Given the description of an element on the screen output the (x, y) to click on. 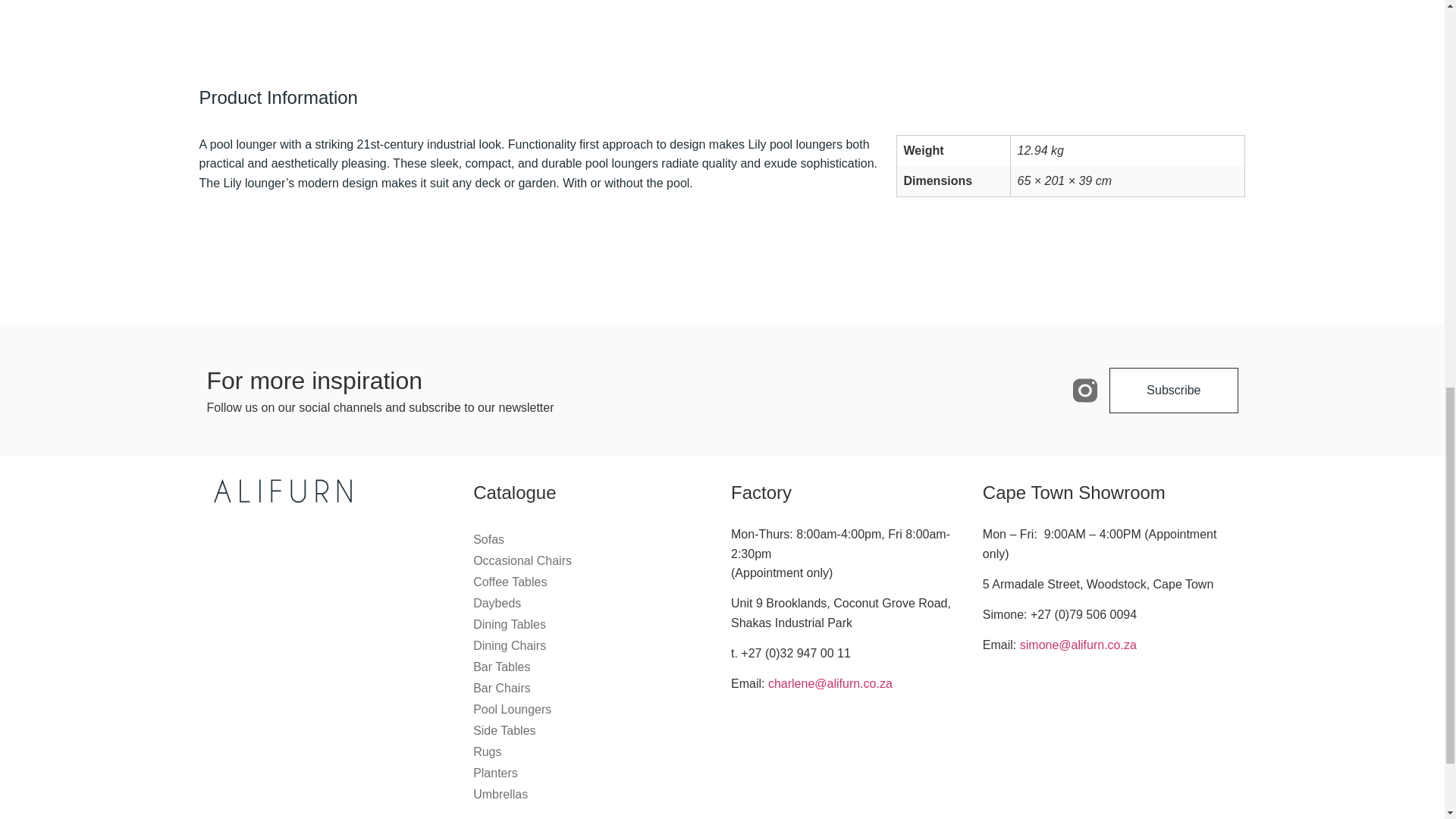
Planters (594, 773)
Subscribe (1173, 390)
Bar Tables (594, 667)
Bar Chairs (594, 688)
Rugs (594, 751)
Sofas (594, 539)
Dining Chairs (594, 646)
Coffee Tables (594, 582)
Umbrellas (594, 794)
Daybeds (594, 603)
